Given the description of an element on the screen output the (x, y) to click on. 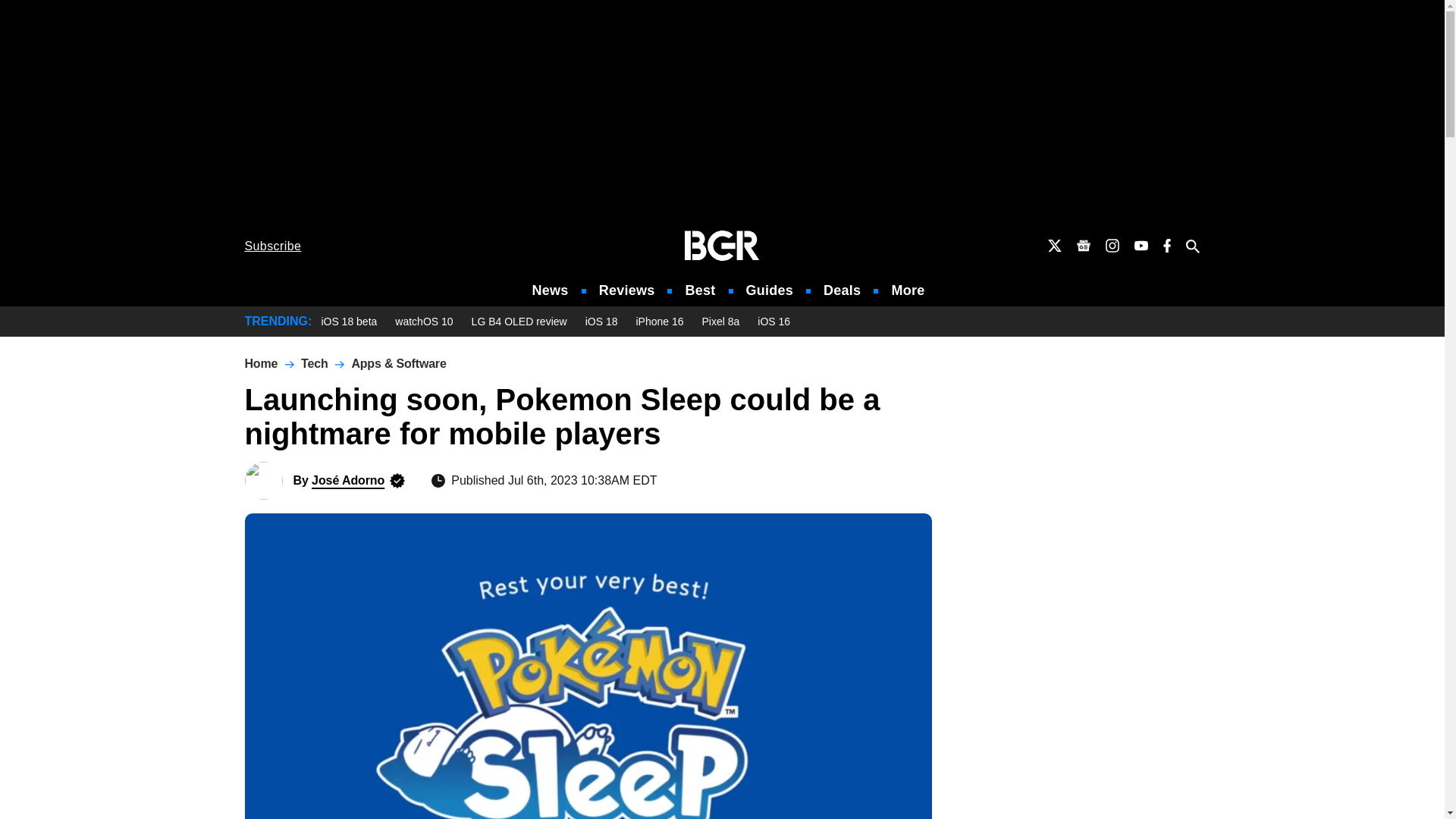
Best (699, 290)
News (550, 290)
Guides (769, 290)
Deals (842, 290)
Subscribe (272, 245)
Reviews (626, 290)
More (907, 290)
